Given the description of an element on the screen output the (x, y) to click on. 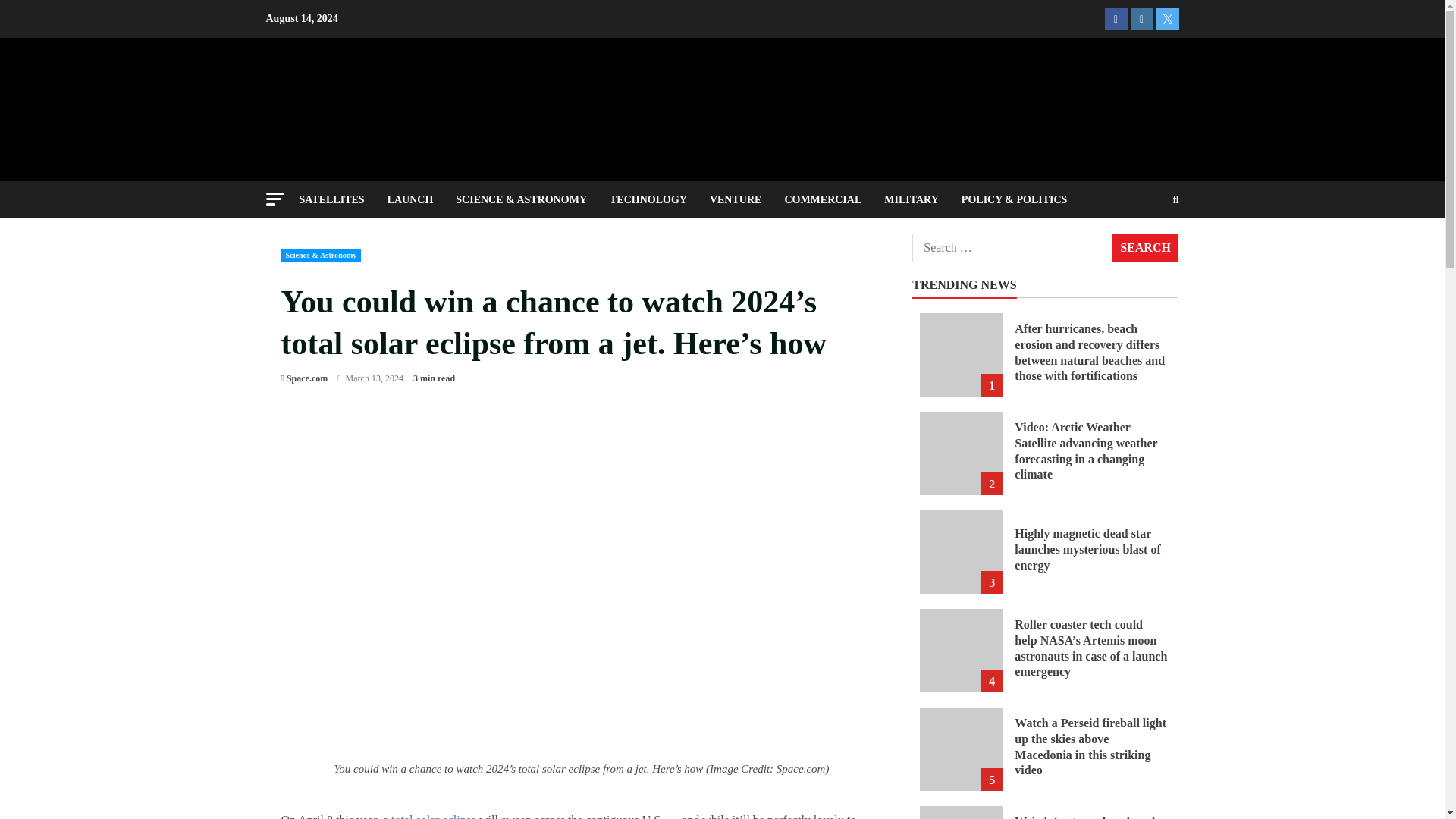
LAUNCH (410, 199)
INTERVIEWS (344, 236)
COMMERCIAL (822, 199)
VENTURE (735, 199)
Space.com (306, 377)
TECHNOLOGY (648, 199)
total solar eclipse (433, 816)
Search (1139, 251)
MILITARY (911, 199)
Search (1145, 247)
